Given the description of an element on the screen output the (x, y) to click on. 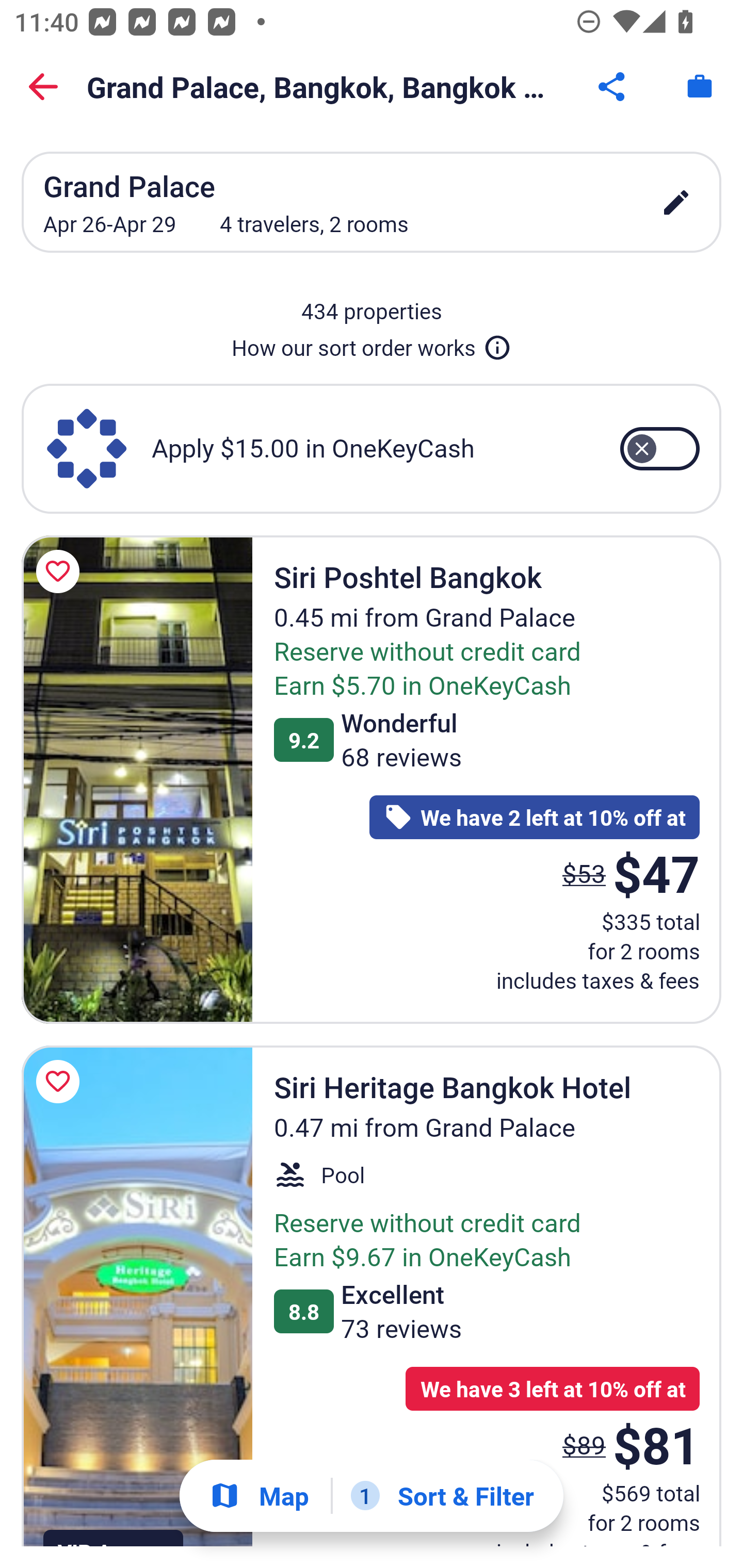
Back (43, 86)
Share Button (612, 86)
Trips. Button (699, 86)
How our sort order works (371, 344)
Save Siri Poshtel Bangkok to a trip (61, 571)
Siri Poshtel Bangkok (136, 778)
$53 The price was $53 (583, 873)
Save Siri Heritage Bangkok Hotel to a trip (61, 1081)
Siri Heritage Bangkok Hotel (136, 1295)
$89 The price was $89 (583, 1444)
1 Sort & Filter 1 Filter applied. Filters Button (442, 1495)
Show map Map Show map Button (258, 1495)
